Given the description of an element on the screen output the (x, y) to click on. 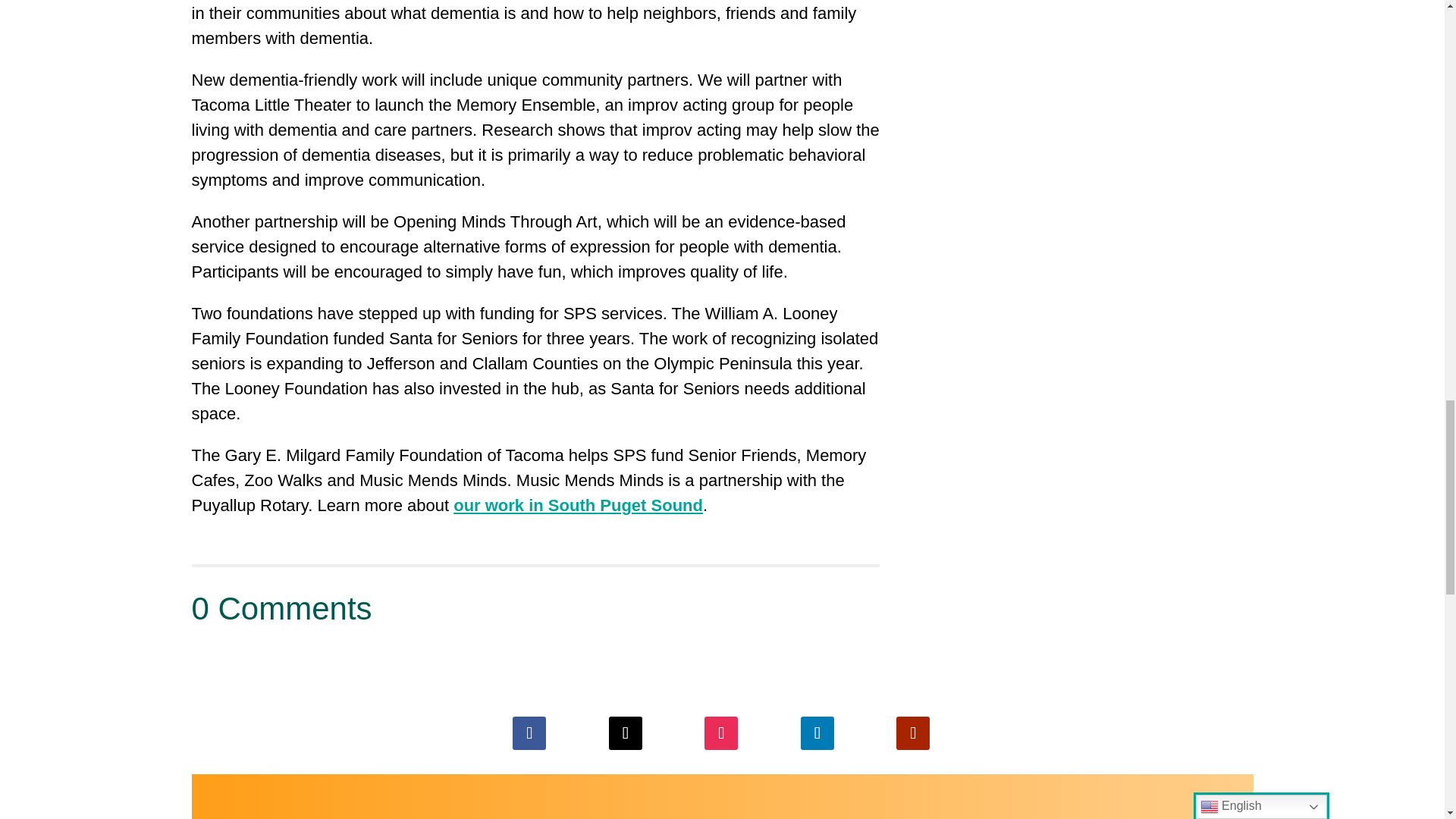
Follow on Youtube (913, 733)
Follow on Facebook (529, 733)
Follow on LinkedIn (817, 733)
Follow on X (625, 733)
Follow on Instagram (721, 733)
